Given the description of an element on the screen output the (x, y) to click on. 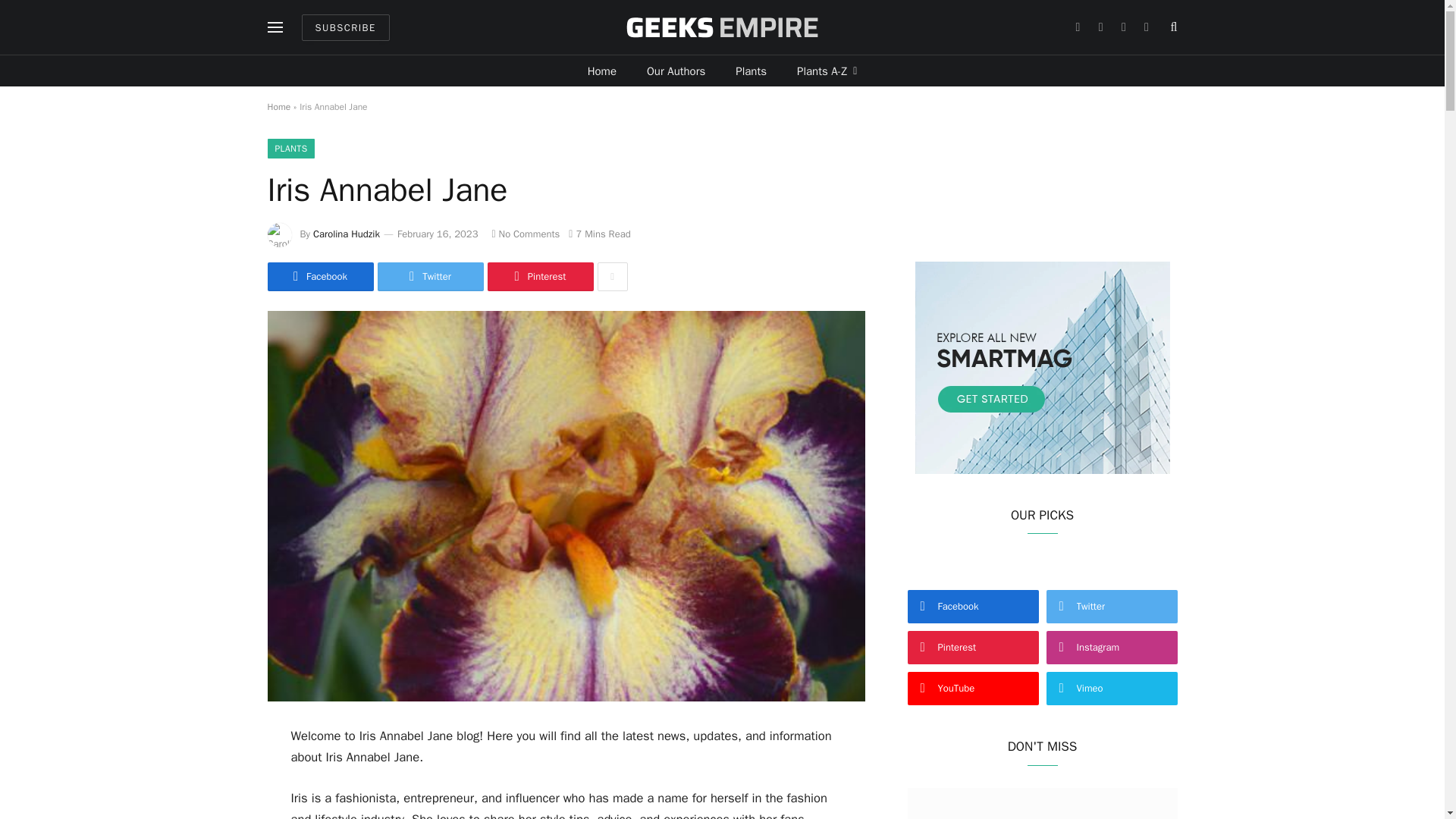
Our Authors (675, 70)
Home (601, 70)
Share on Facebook (319, 276)
Carolina Hudzik (346, 233)
Posts by Carolina Hudzik (346, 233)
Home (277, 106)
Plants A-Z (826, 70)
PLANTS (290, 148)
e-garden.co.uk (721, 27)
Plants (750, 70)
